Given the description of an element on the screen output the (x, y) to click on. 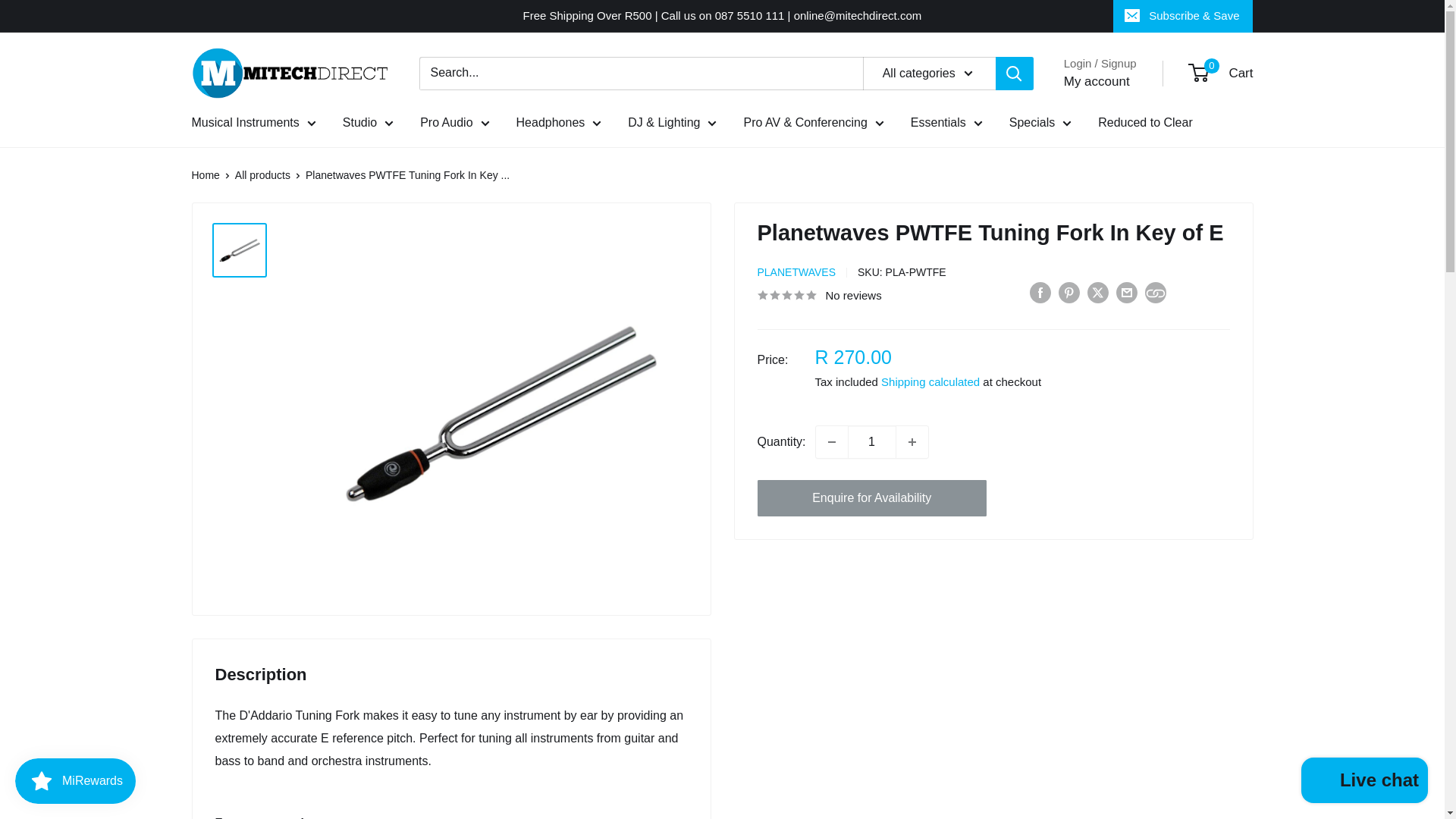
Smile.io Rewards Program Launcher (74, 780)
Shopify online store chat (1364, 781)
Increase quantity by 1 (912, 441)
Decrease quantity by 1 (831, 441)
1 (871, 441)
